Given the description of an element on the screen output the (x, y) to click on. 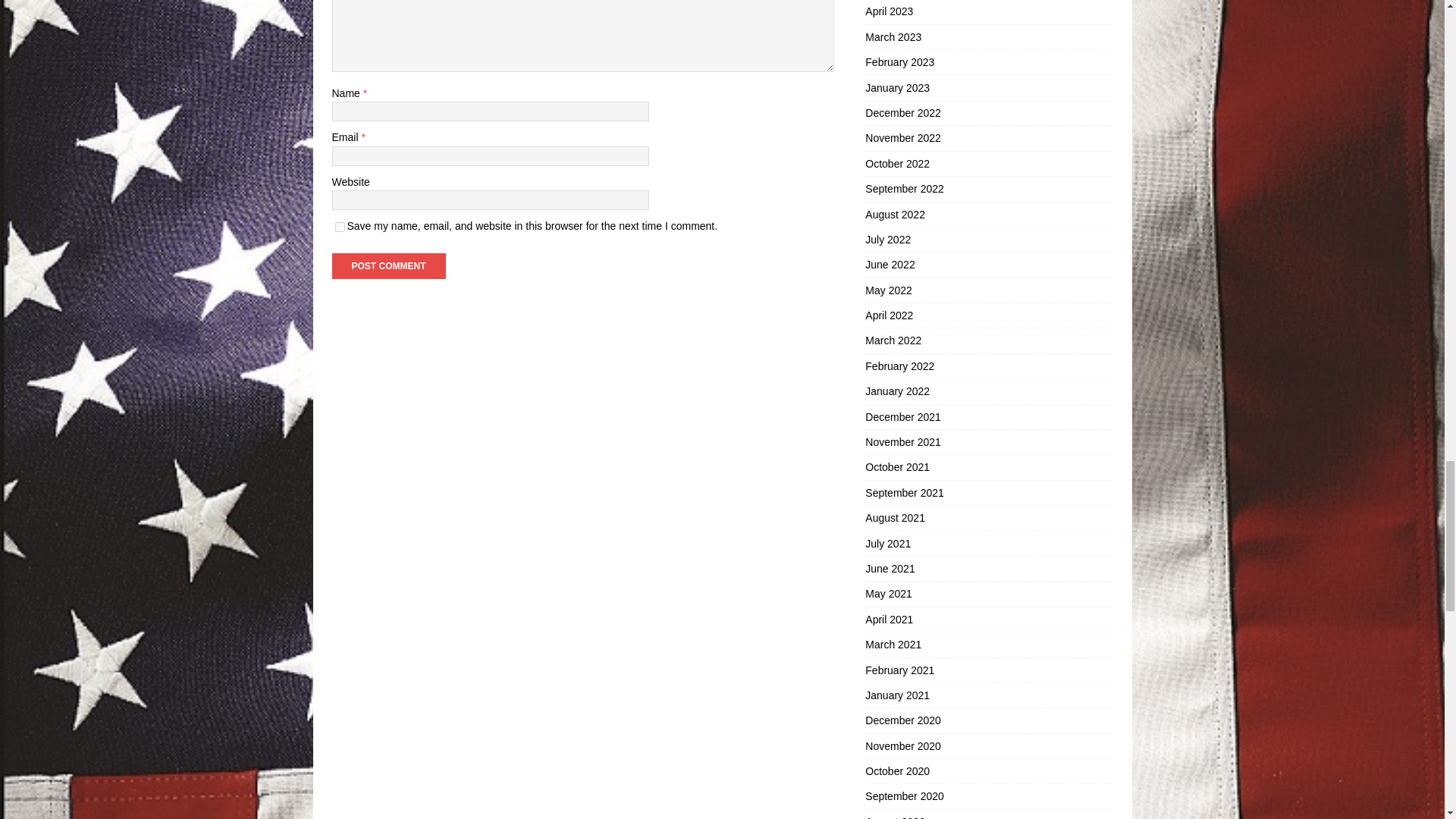
yes (339, 226)
Post Comment (388, 266)
